Given the description of an element on the screen output the (x, y) to click on. 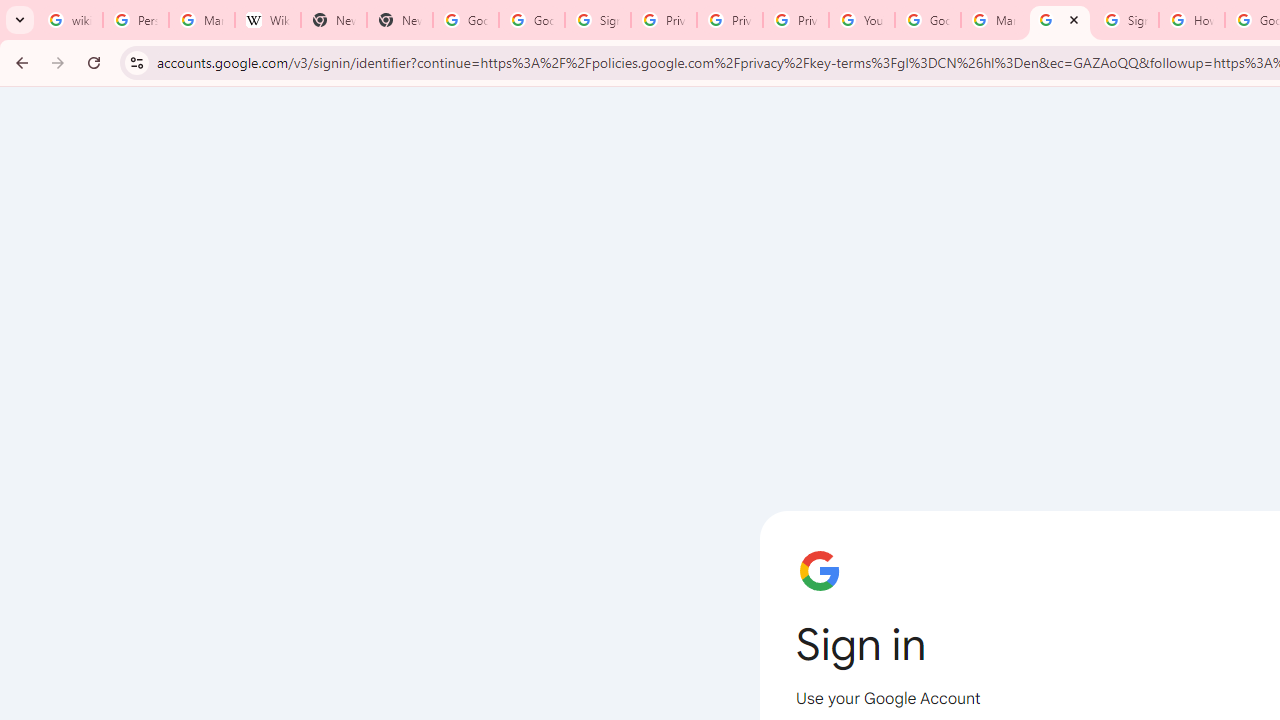
Personalization & Google Search results - Google Search Help (135, 20)
Google Drive: Sign-in (531, 20)
Wikipedia:Edit requests - Wikipedia (267, 20)
Manage your Location History - Google Search Help (202, 20)
